Given the description of an element on the screen output the (x, y) to click on. 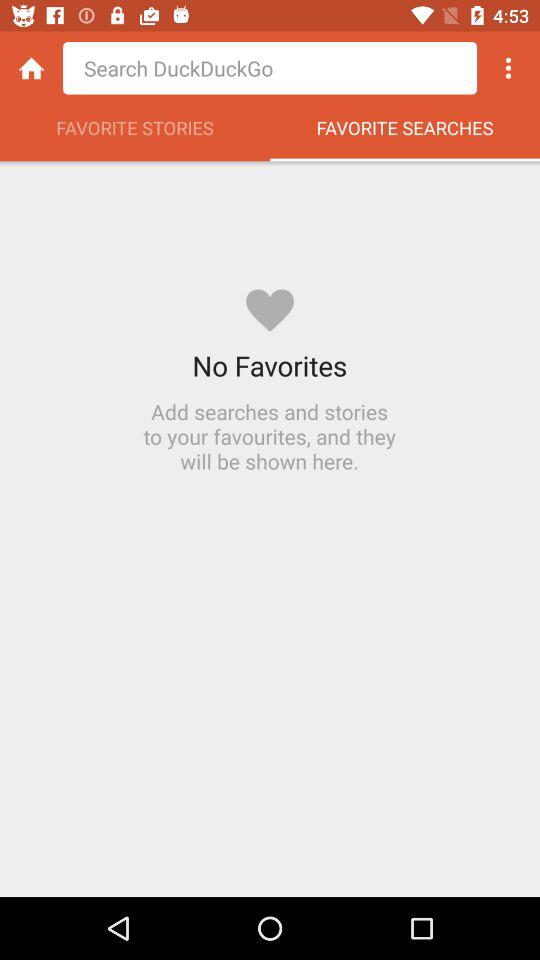
enter search query (270, 68)
